Given the description of an element on the screen output the (x, y) to click on. 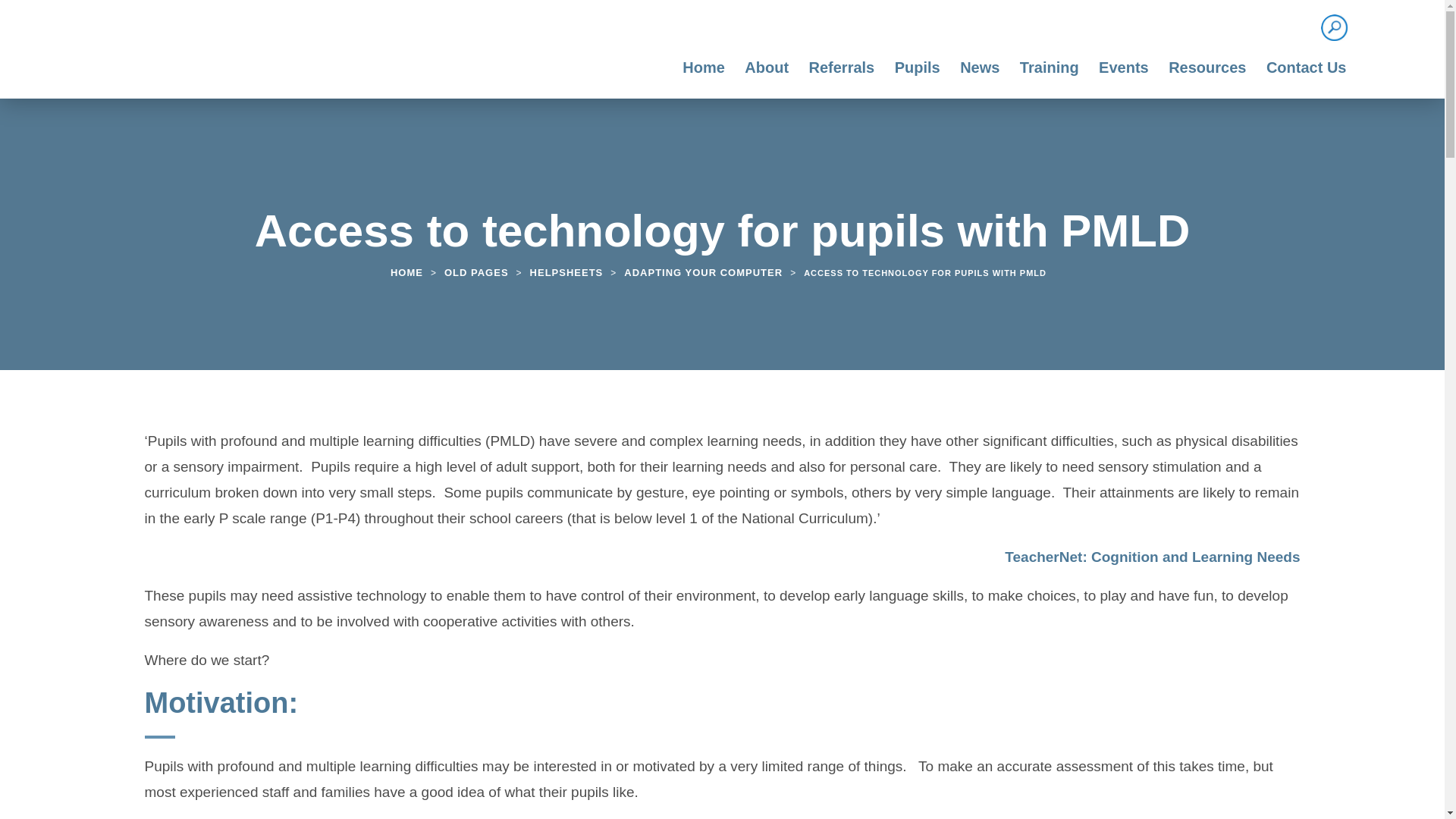
Home (703, 75)
Pupils (917, 75)
Referrals (842, 75)
About (766, 75)
